Given the description of an element on the screen output the (x, y) to click on. 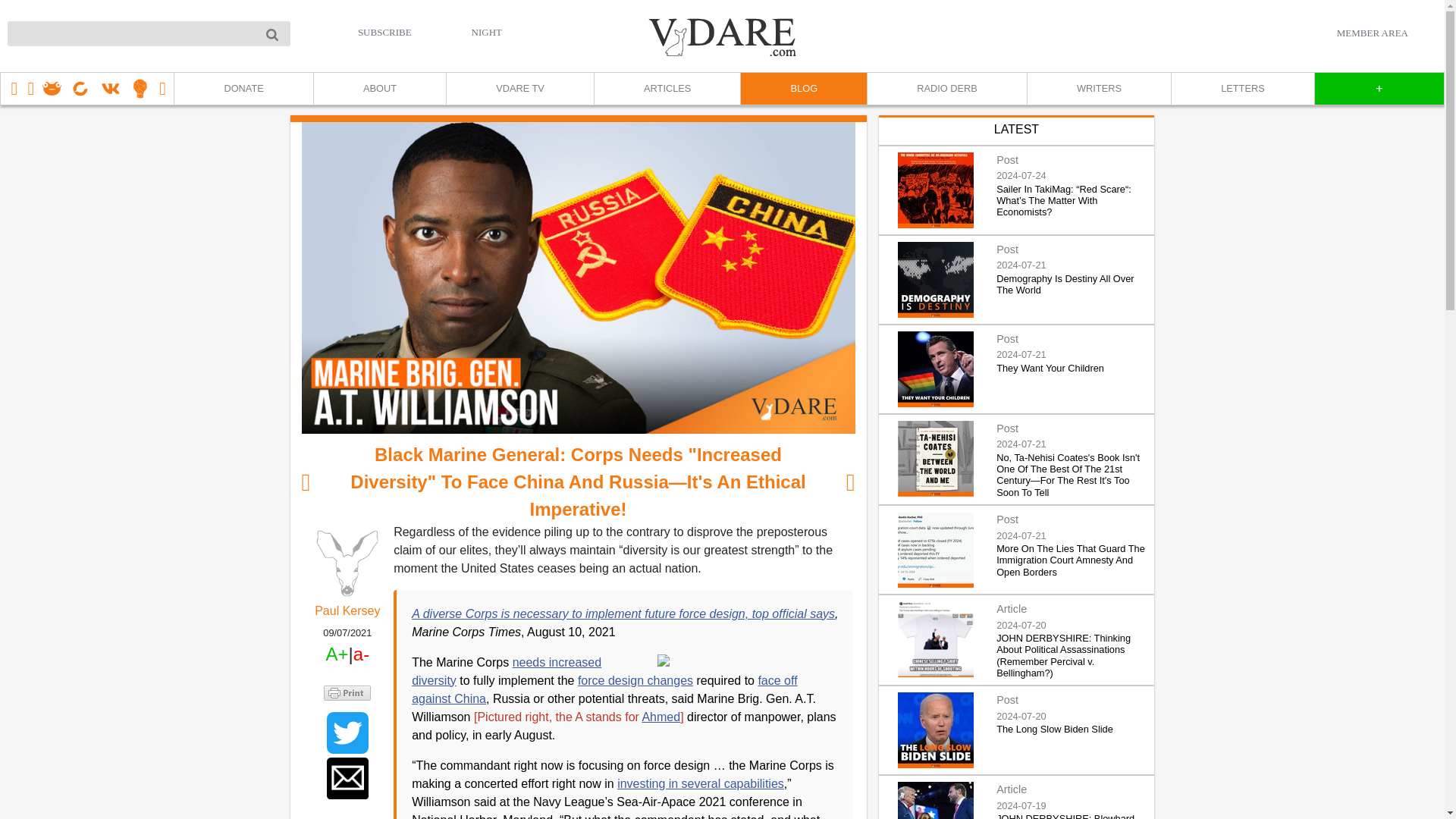
VDARE TV (519, 88)
DONATE (243, 88)
Share to Twitter (347, 732)
Printer Friendly and PDF (347, 691)
ABOUT (379, 88)
RADIO DERB (946, 88)
BLOG (802, 88)
MEMBER AREA (1371, 32)
ARTICLES (666, 88)
SUBSCRIBE (385, 31)
WRITERS (1098, 88)
LETTERS (1242, 88)
Share to Email (347, 778)
